Given the description of an element on the screen output the (x, y) to click on. 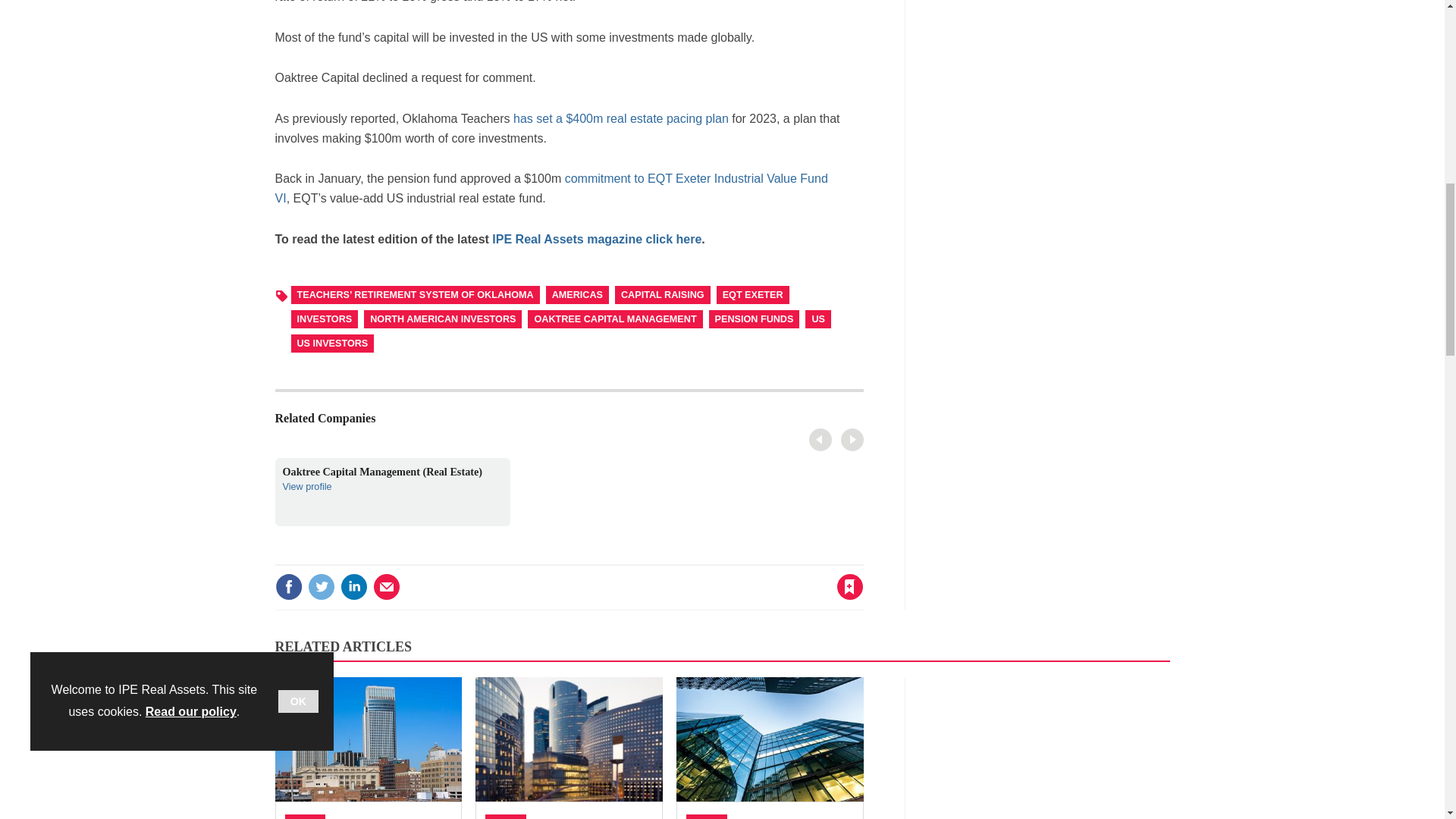
Share this on Facebook (288, 586)
Share this on Linked in (352, 586)
Email this article (826, 441)
Share this on Twitter (386, 586)
